Given the description of an element on the screen output the (x, y) to click on. 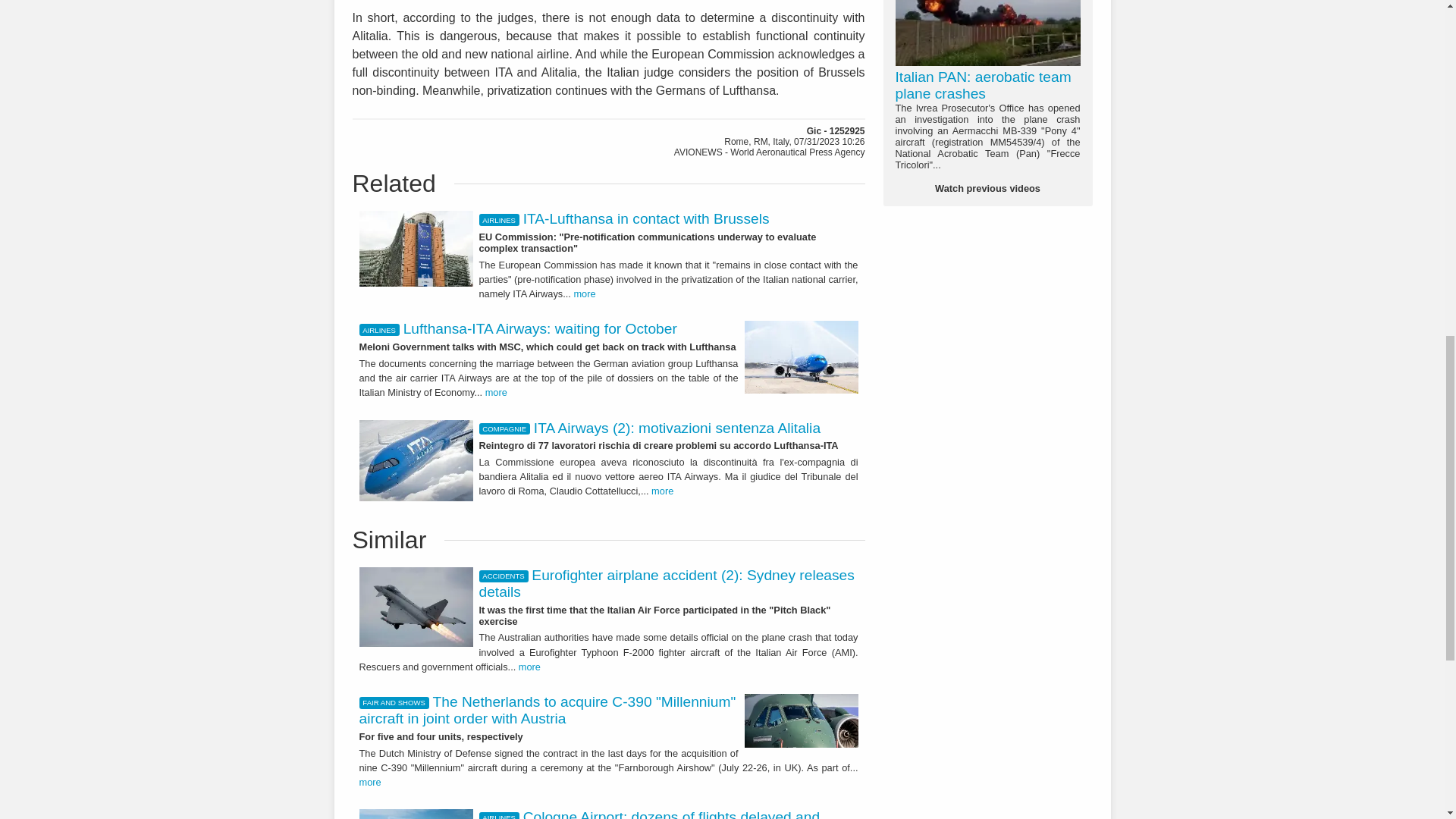
European Commission building (416, 248)
C-390 Millennium airplane (801, 720)
ITA Airways (801, 357)
Eurofighter Typhoon of Italian Air Force during take off (416, 607)
Air view of the Cologne-Bonn Airport (416, 814)
Aereo Ita Airways (416, 460)
